Given the description of an element on the screen output the (x, y) to click on. 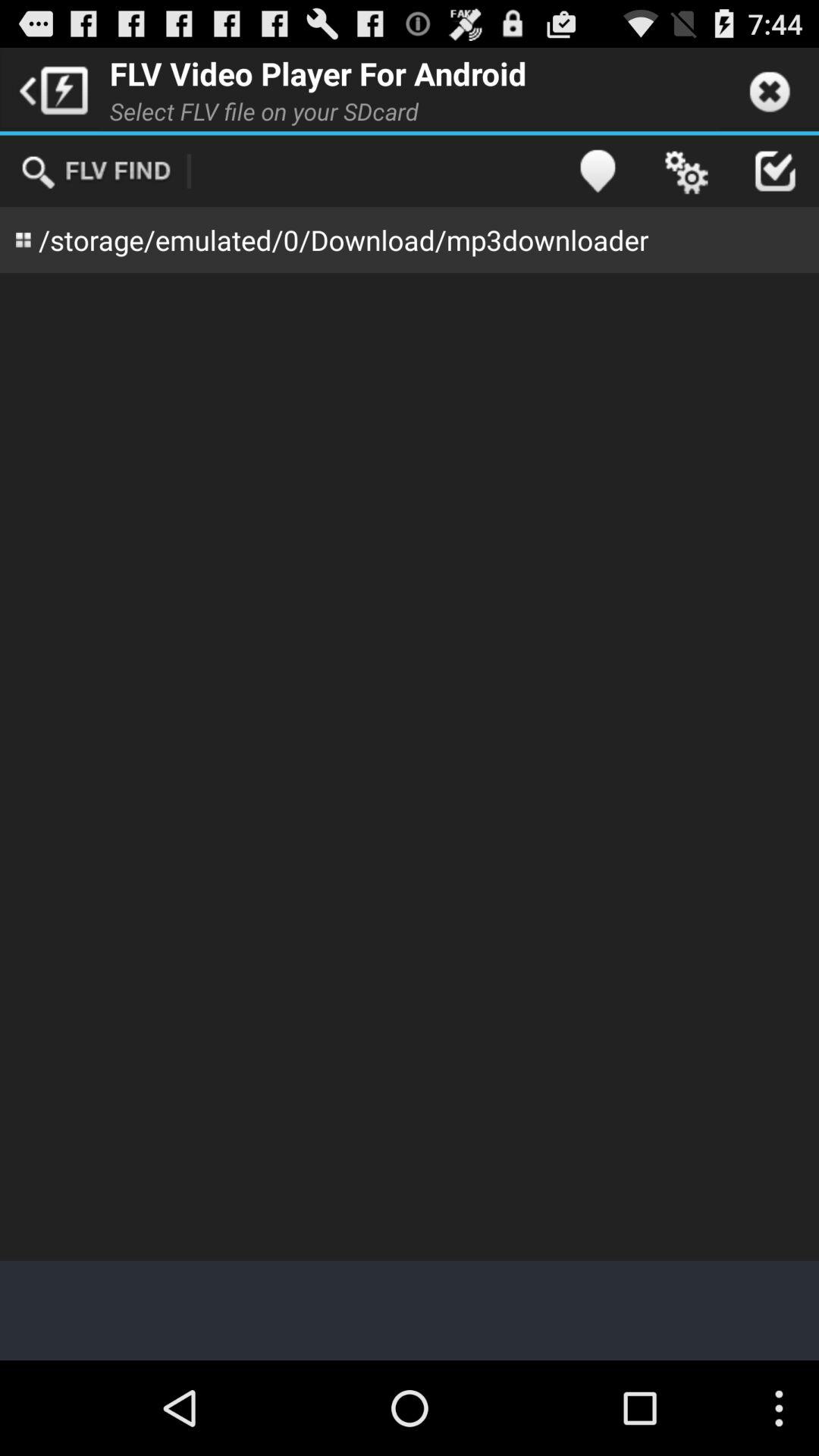
open the icon at the center (409, 766)
